Given the description of an element on the screen output the (x, y) to click on. 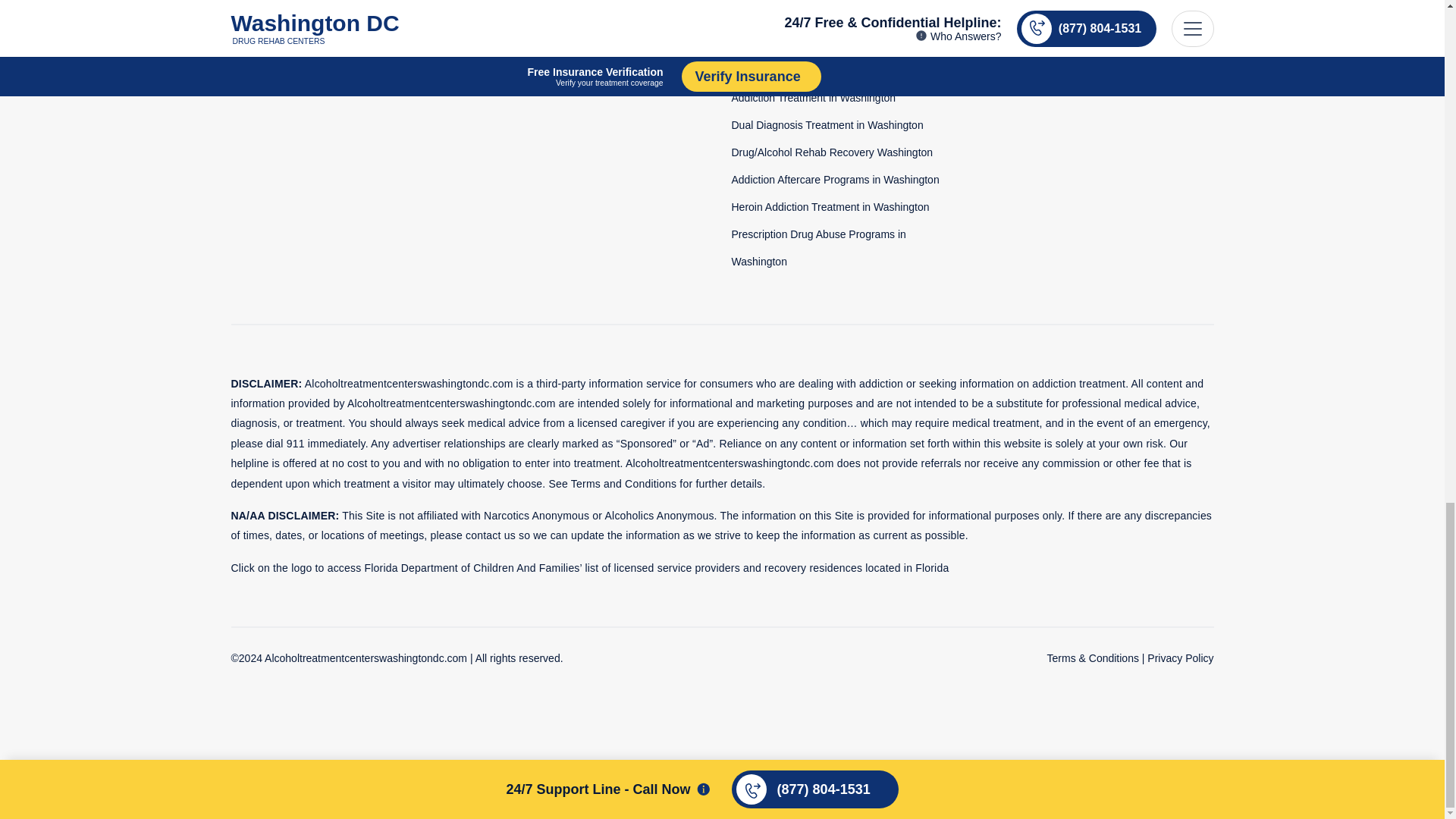
Contact Us (506, 19)
Washington DC Blog Resources (491, 46)
Addiction Treatment in Washington (812, 73)
Addiction Aftercare Programs in Washington (834, 155)
Detox in Washington (779, 19)
Privacy Policy (1179, 633)
Dual Diagnosis Treatment in Washington (826, 101)
Contact Us (506, 19)
Prescription Drug Abuse Programs in Washington (817, 223)
Heroin Addiction Treatment in Washington (829, 182)
Mental health in Washington (797, 46)
Blog (491, 46)
